Given the description of an element on the screen output the (x, y) to click on. 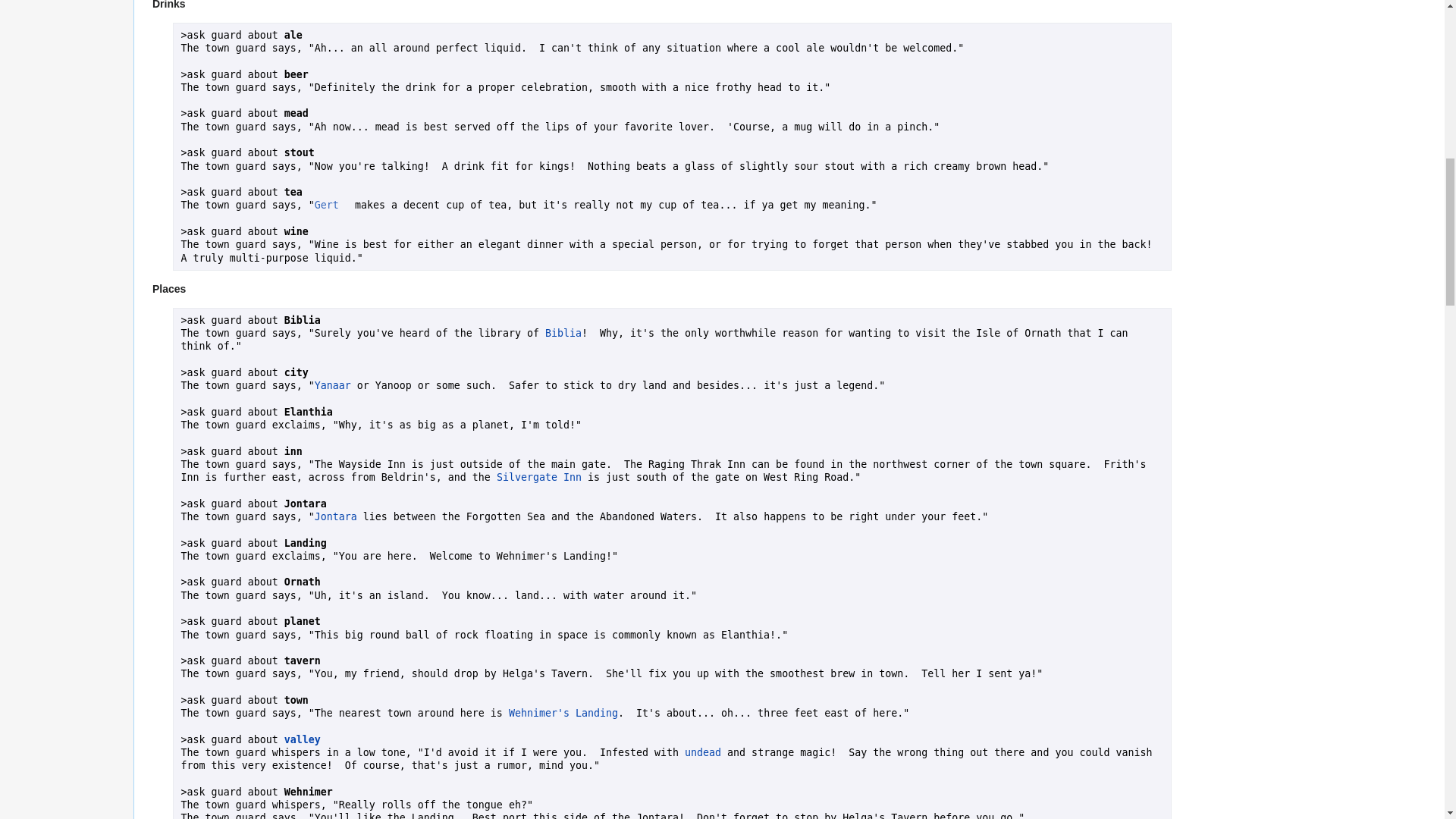
undead (702, 752)
valley (301, 739)
Shuluri (332, 385)
Jontara (335, 516)
Wehnimer's Landing (562, 713)
Biblia (562, 333)
Yanaar (332, 385)
Gert (331, 204)
Silvergate Inn (538, 477)
Biblia (562, 333)
